Given the description of an element on the screen output the (x, y) to click on. 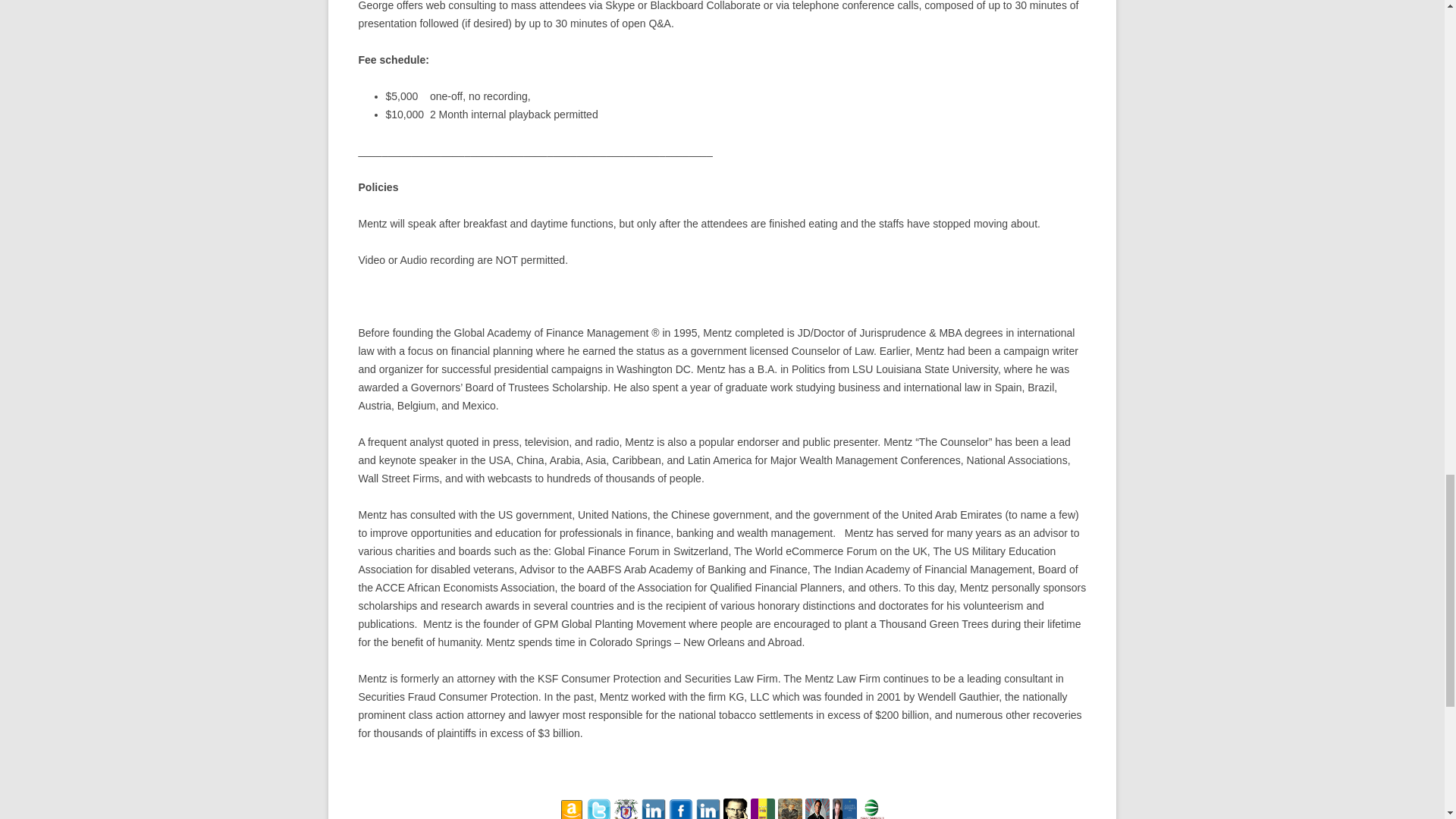
Linkedin (653, 816)
Linkedin EU (707, 808)
George Mentz (762, 816)
Facebook (680, 816)
Academia (735, 816)
Amazon Author (571, 816)
Twitter (598, 816)
Facebook (680, 808)
Linkedin (653, 808)
Twitter (598, 808)
Academia (735, 808)
Linkedin EU (708, 816)
O-Books (626, 816)
Amazon Author (571, 808)
O-Books (626, 808)
